Given the description of an element on the screen output the (x, y) to click on. 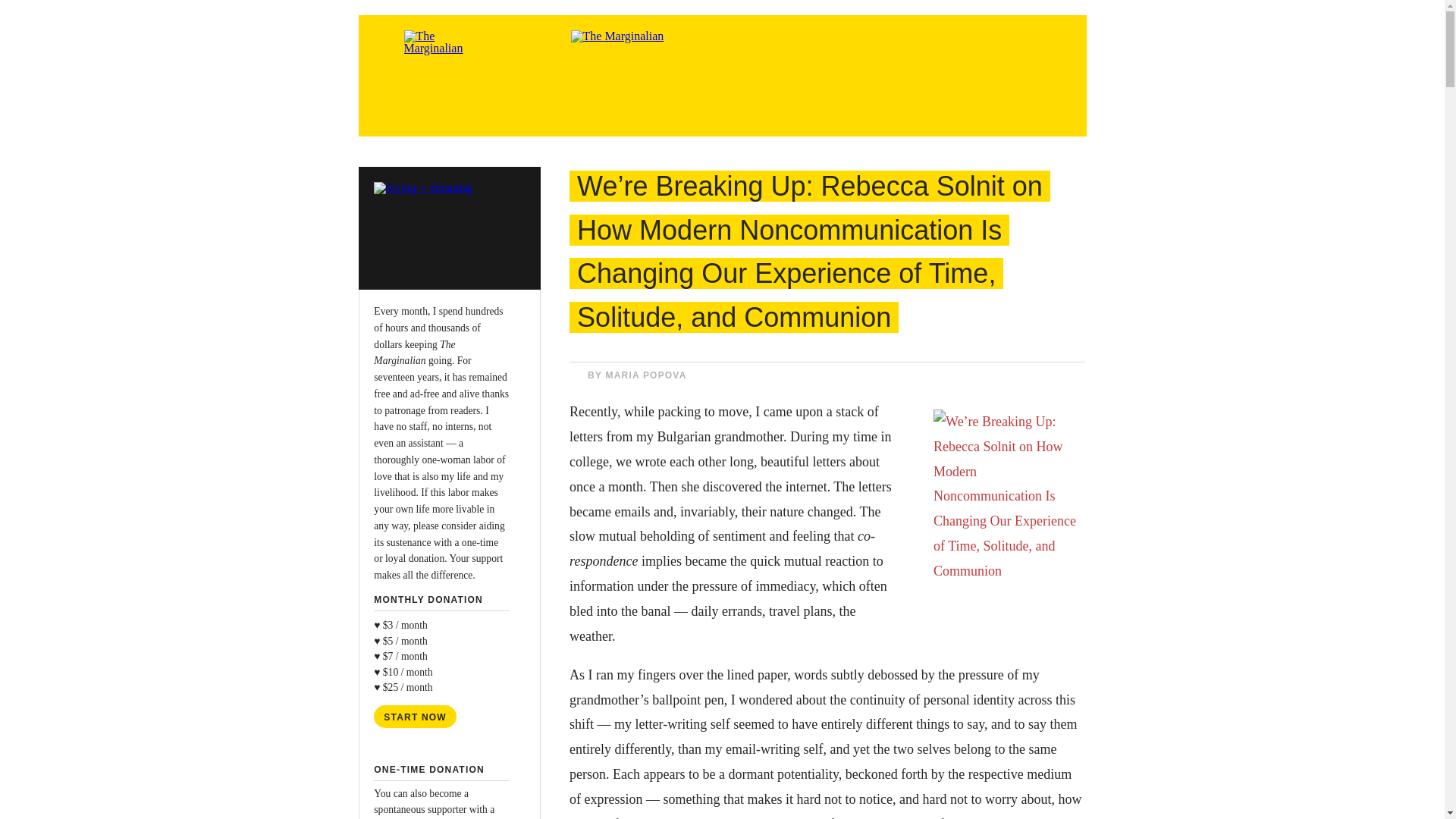
START NOW (415, 716)
